Given the description of an element on the screen output the (x, y) to click on. 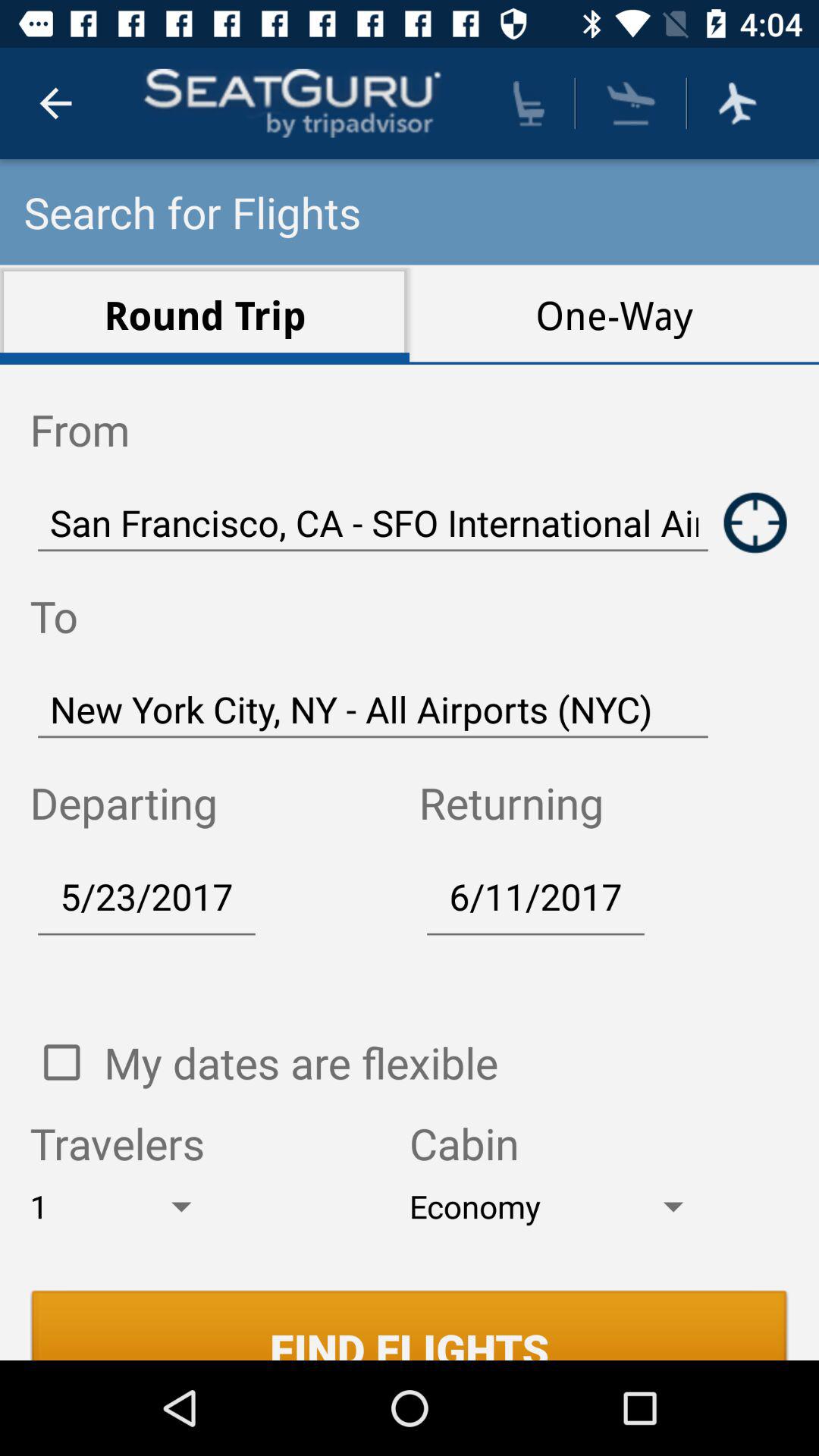
turn off the item below the 1 icon (409, 1324)
